Given the description of an element on the screen output the (x, y) to click on. 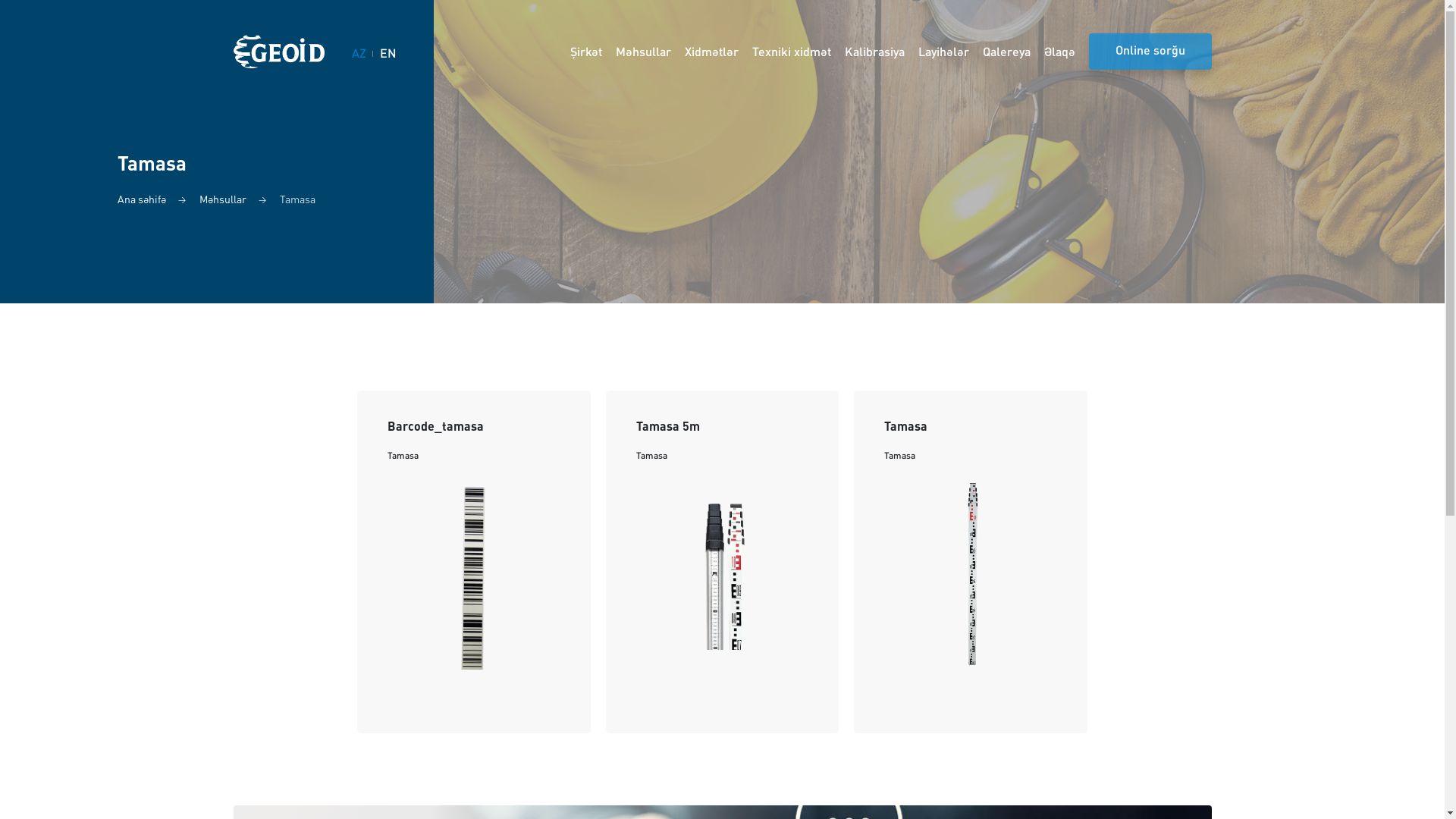
Qalereya Element type: text (1006, 51)
Kalibrasiya Element type: text (874, 51)
EN Element type: text (387, 54)
Tamasa
Tamasa Element type: text (970, 561)
Tamasa 5m
Tamasa Element type: text (722, 561)
Barcode_tamasa
Tamasa Element type: text (473, 561)
